Given the description of an element on the screen output the (x, y) to click on. 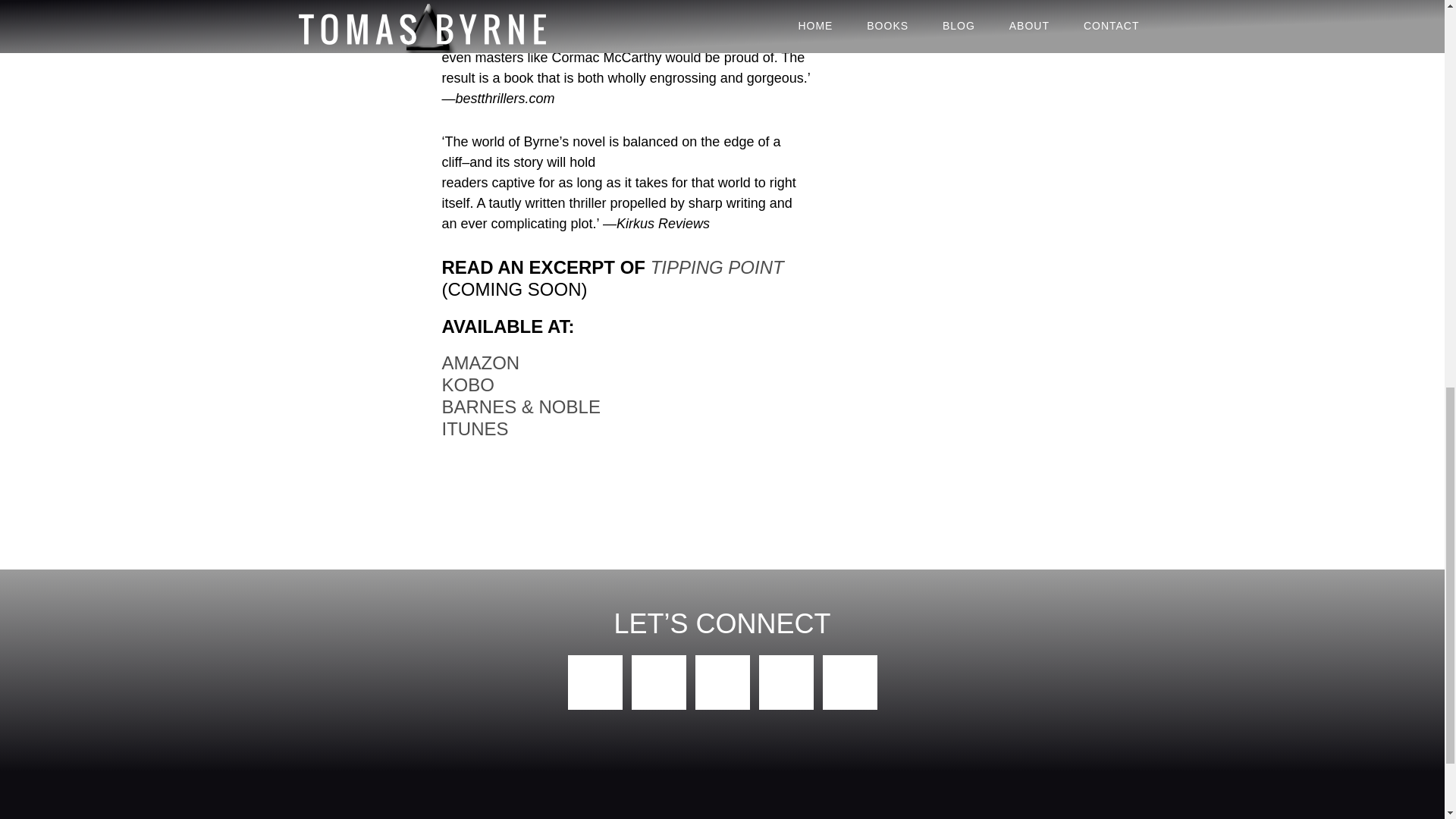
CONTACT (925, 818)
ABOUT (812, 818)
AMAZON (480, 362)
ITUNES (474, 428)
TIPPING POINT (717, 267)
BOOKS (610, 818)
KOBO (467, 384)
BLOG (712, 818)
HOME (508, 818)
